Given the description of an element on the screen output the (x, y) to click on. 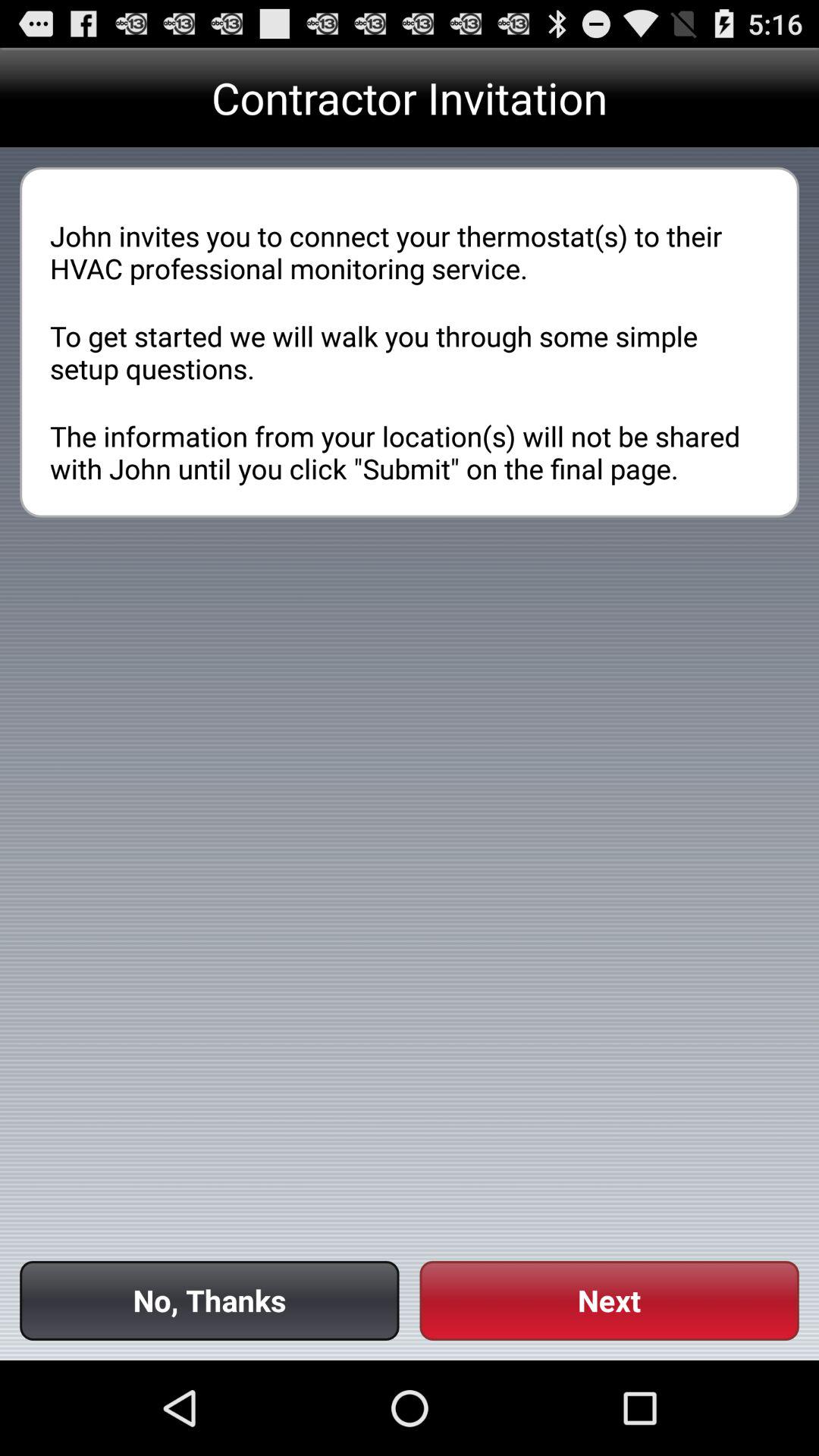
turn off the icon next to no, thanks (609, 1300)
